Given the description of an element on the screen output the (x, y) to click on. 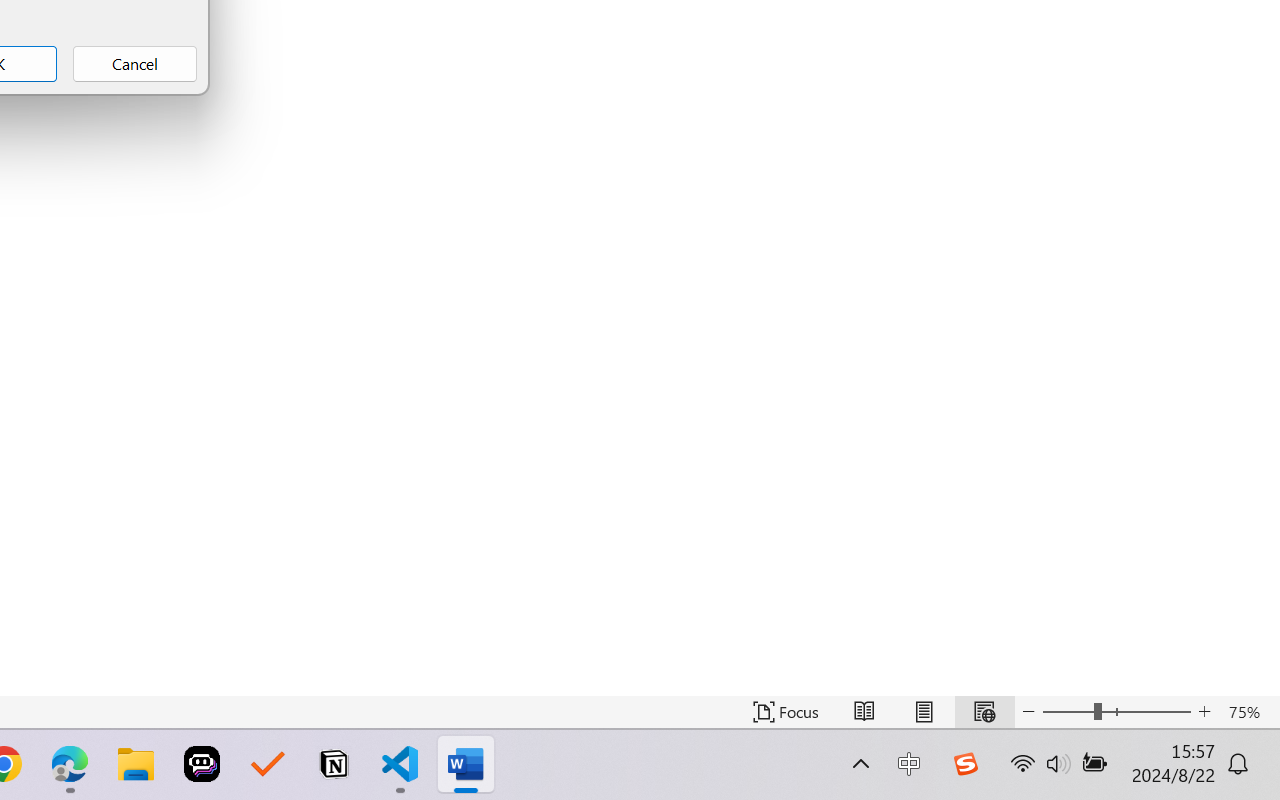
Notion (333, 764)
Cancel (134, 63)
Class: Image (965, 764)
Zoom (1116, 712)
Read Mode (864, 712)
